Given the description of an element on the screen output the (x, y) to click on. 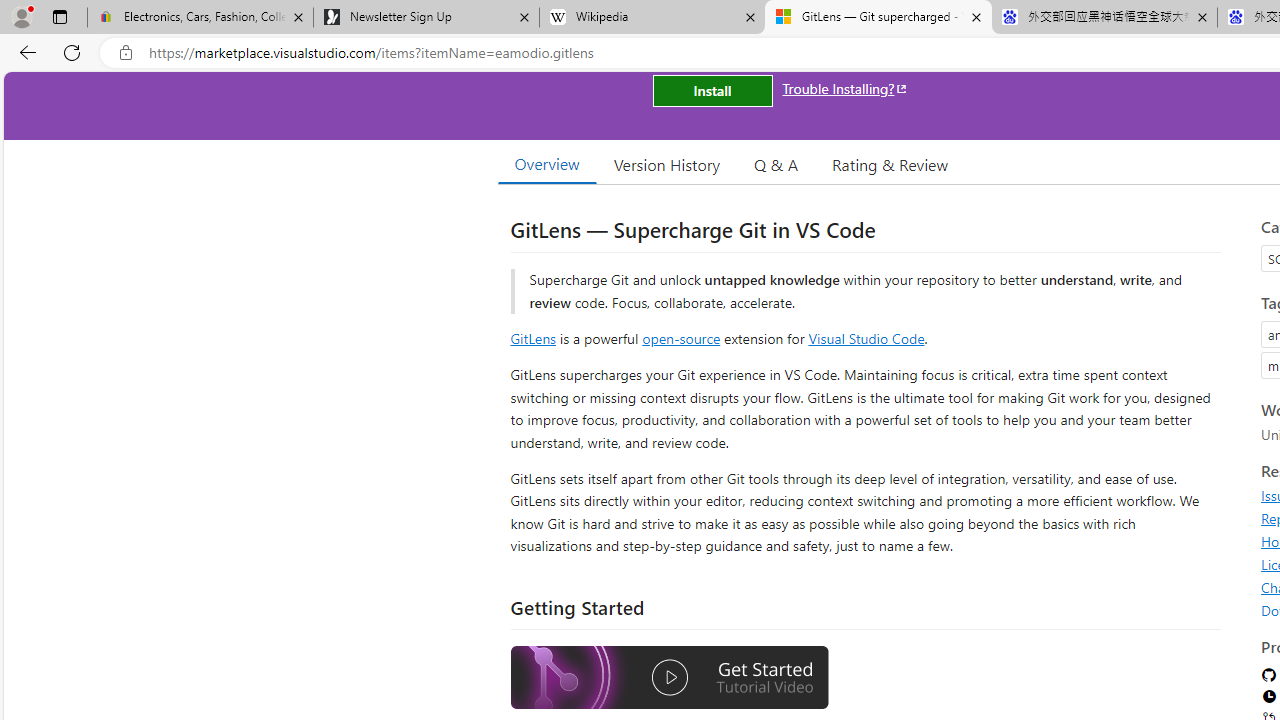
Watch the GitLens Getting Started video (669, 678)
GitLens (532, 337)
open-source (681, 337)
Version History (667, 164)
Install (712, 90)
Newsletter Sign Up (425, 17)
Visual Studio Code (866, 337)
